Given the description of an element on the screen output the (x, y) to click on. 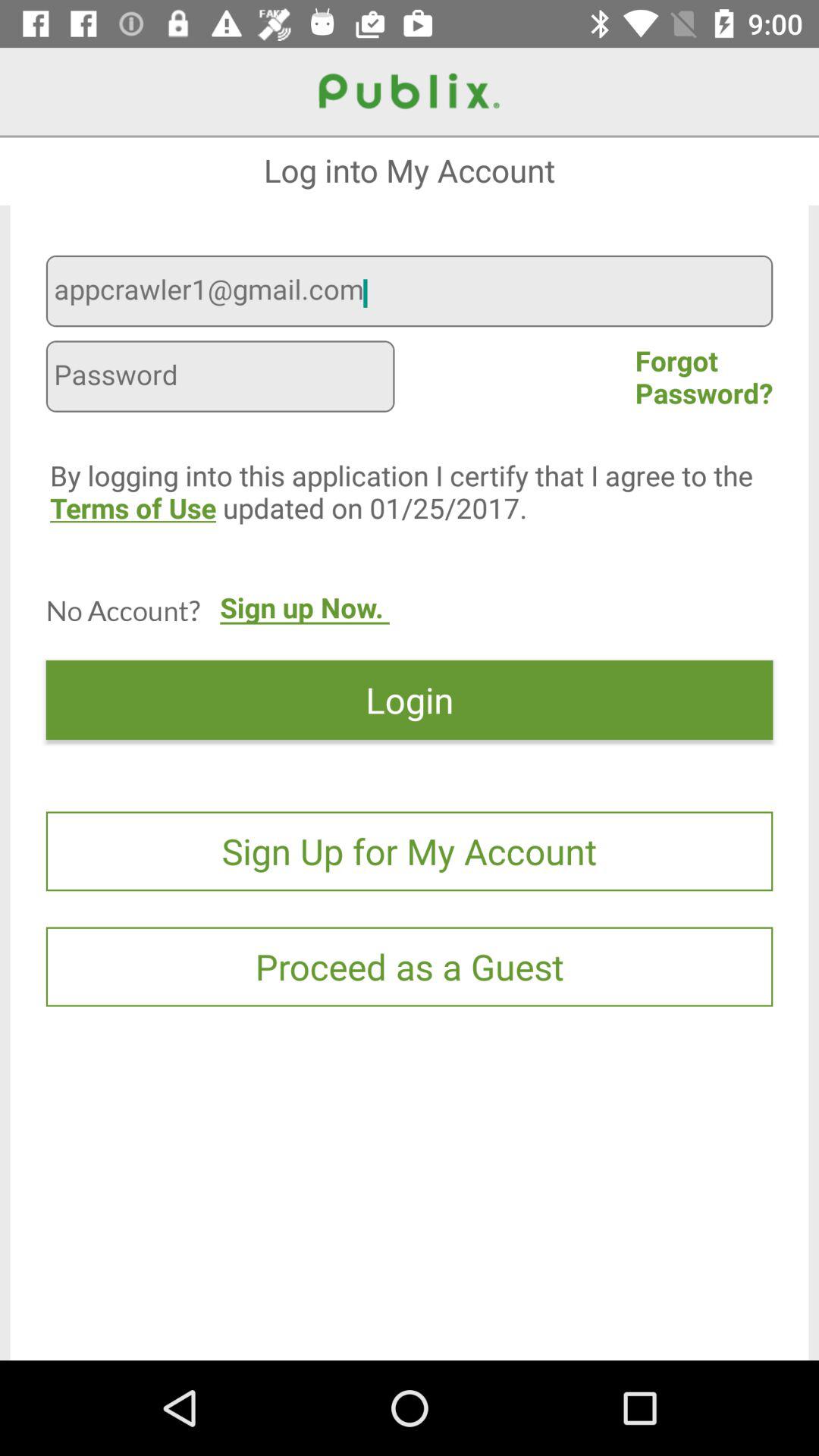
launch proceed as a icon (409, 966)
